Given the description of an element on the screen output the (x, y) to click on. 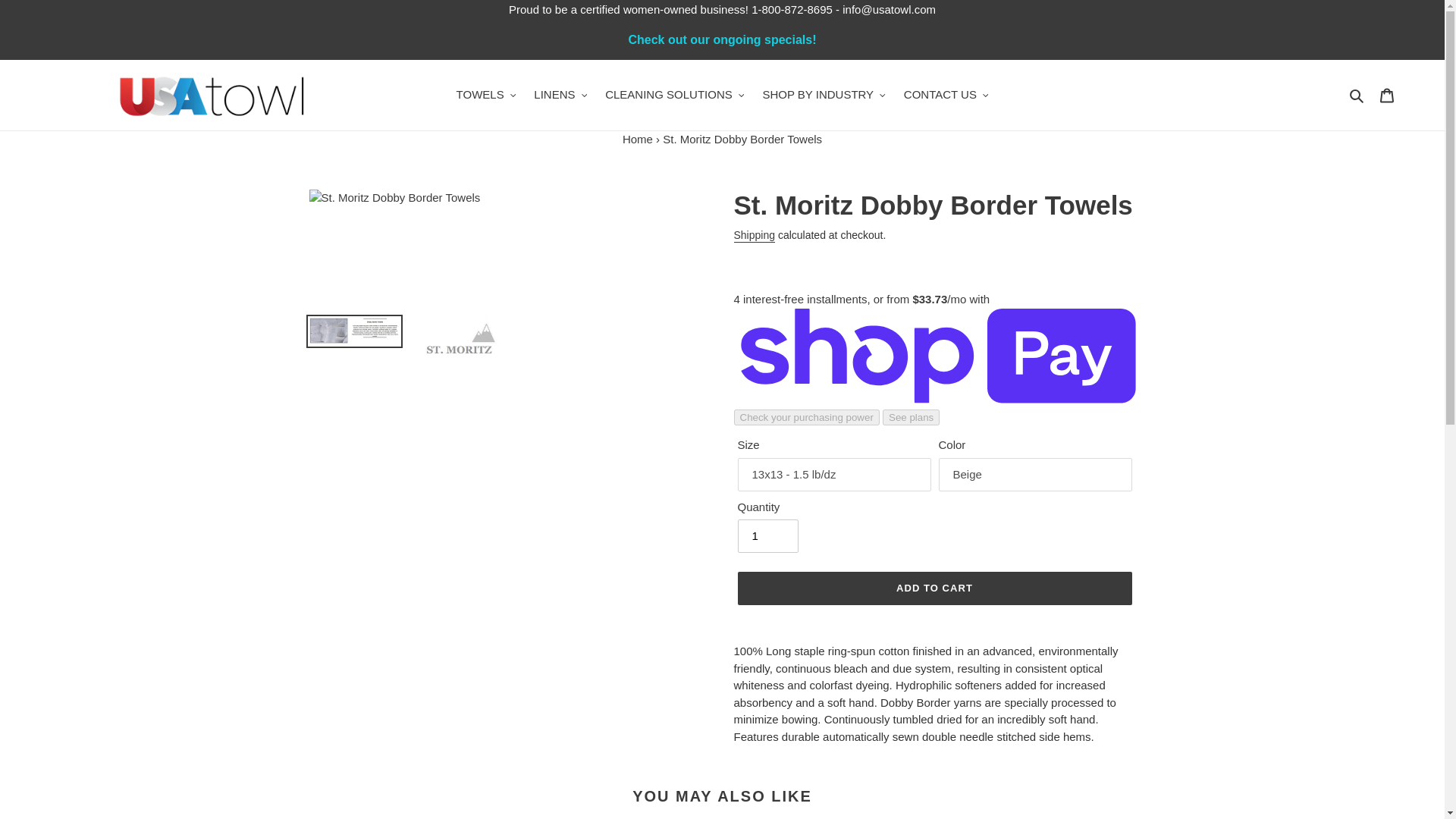
1 (766, 535)
TOWELS (486, 95)
Home (637, 137)
CLEANING SOLUTIONS (673, 95)
Check out our ongoing specials! (721, 39)
SHOP BY INDUSTRY (823, 95)
LINENS (559, 95)
1-800-872-8695 (791, 9)
